Given the description of an element on the screen output the (x, y) to click on. 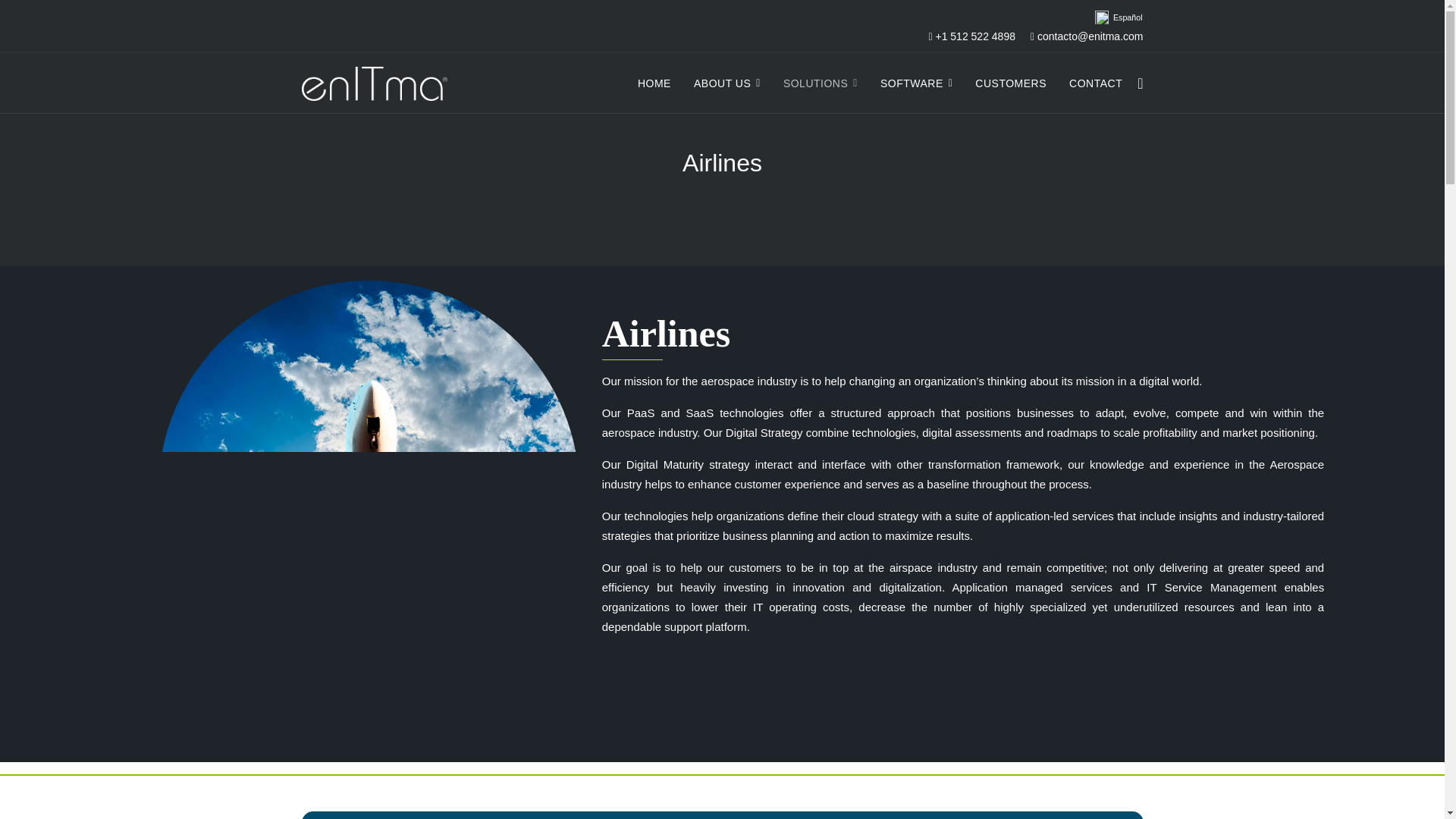
eniTma (654, 83)
SOFTWARE (916, 83)
CUSTOMERS (1010, 83)
HOME (654, 83)
CONTACT (1096, 83)
ABOUT US (726, 83)
SOLUTIONS (820, 83)
